Given the description of an element on the screen output the (x, y) to click on. 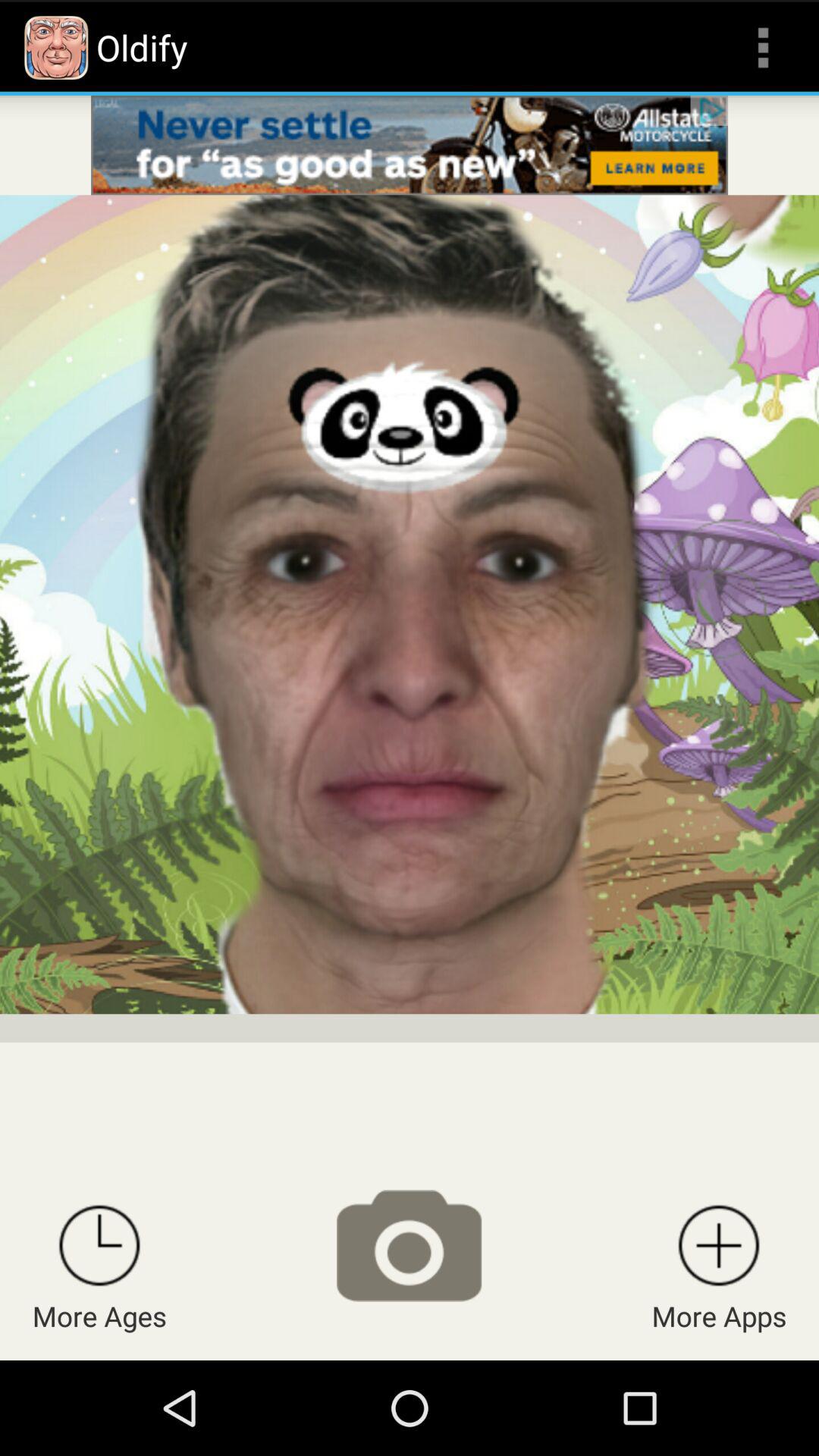
show more age options (99, 1245)
